Given the description of an element on the screen output the (x, y) to click on. 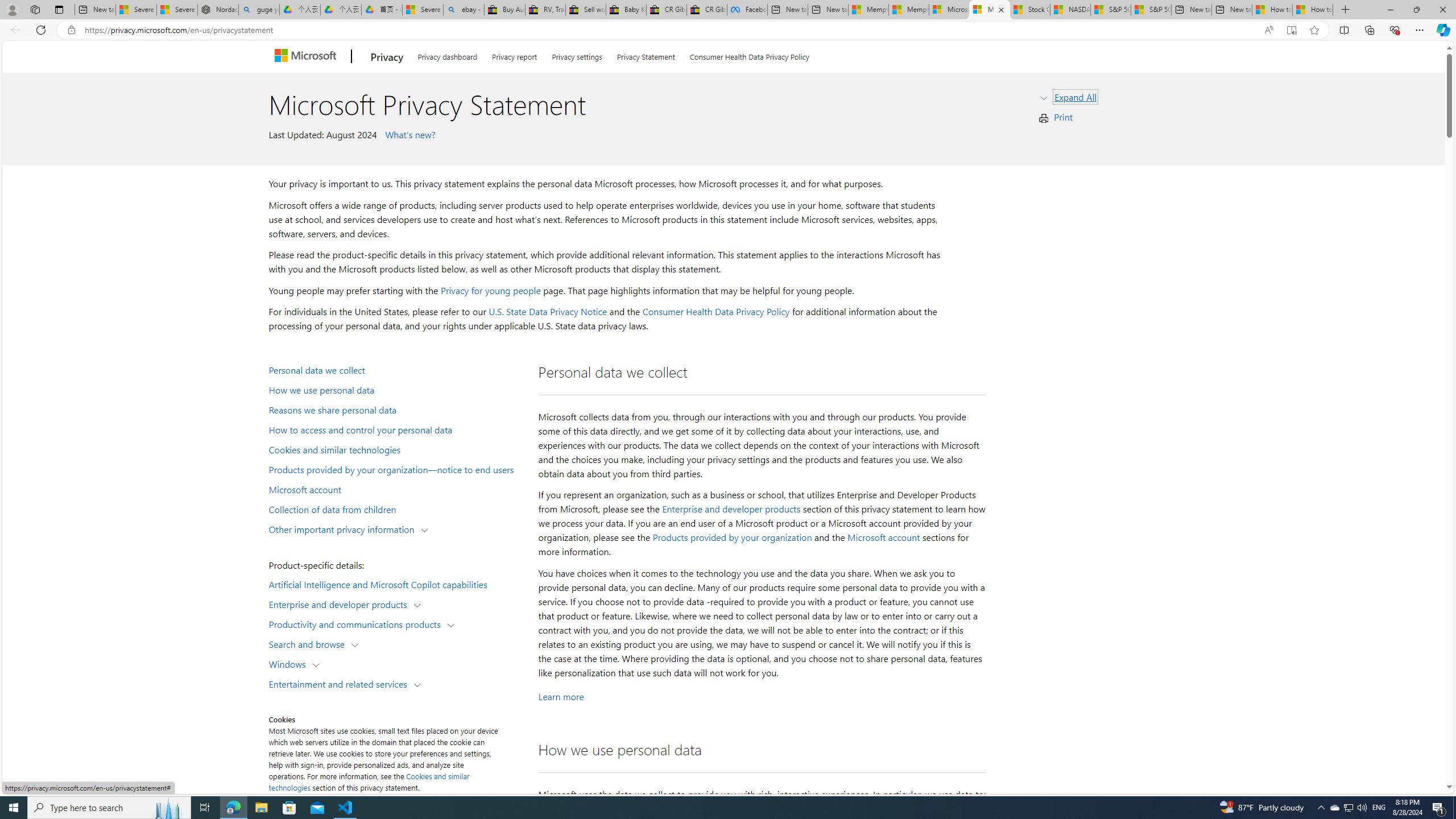
How to access and control your personal data (395, 428)
Settings and more (Alt+F) (1419, 29)
Sell worldwide with eBay (585, 9)
Close (1442, 9)
Baby Keepsakes & Announcements for sale | eBay (625, 9)
How we use personal data (395, 389)
Browser essentials (1394, 29)
Consumer Health Data Privacy Policy (748, 54)
Privacy for young people (489, 290)
Search and browse (308, 643)
View site information (70, 29)
Privacy dashboard (447, 54)
Split screen (1344, 29)
Privacy Statement (645, 54)
Restore (1416, 9)
